Given the description of an element on the screen output the (x, y) to click on. 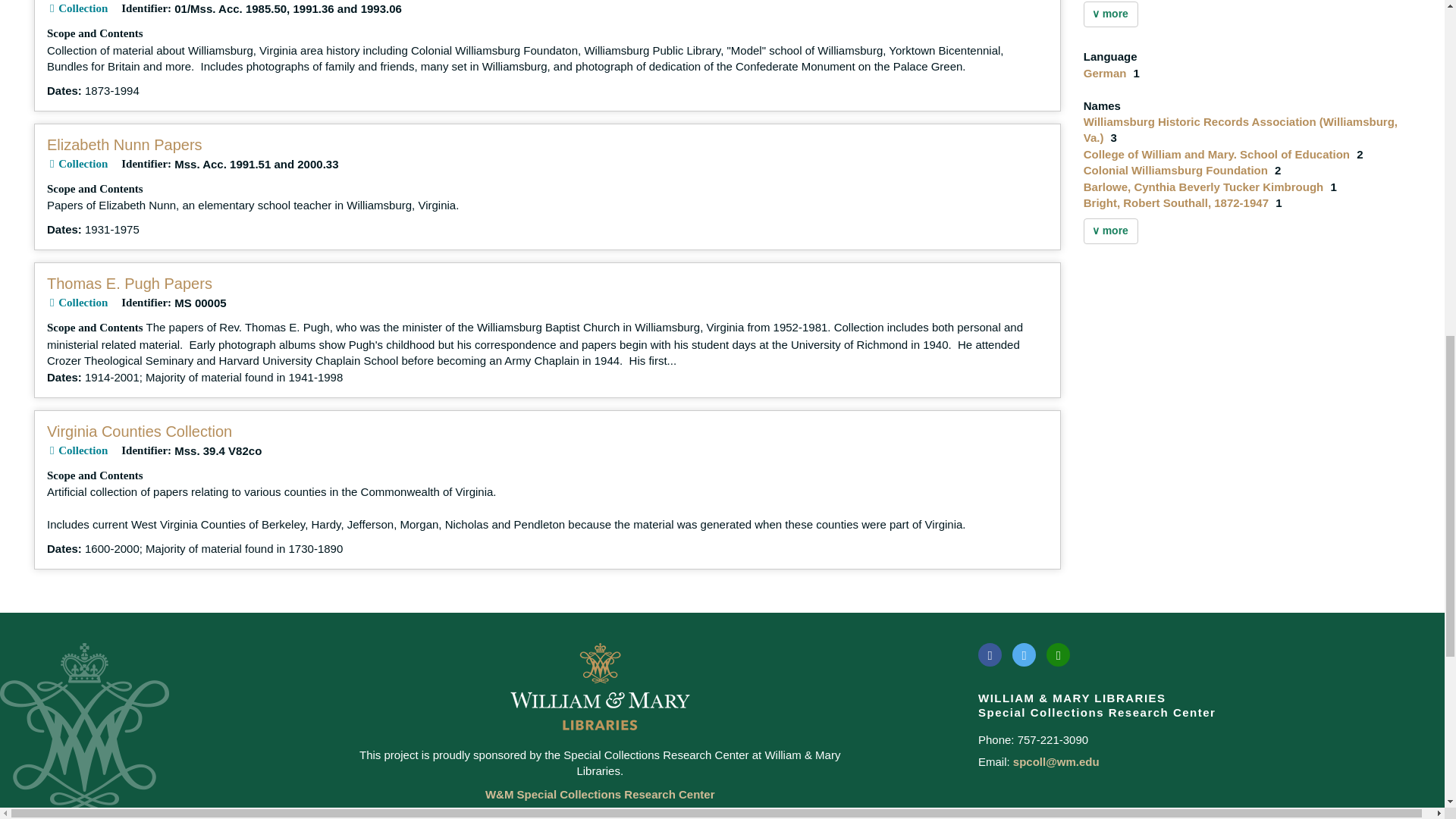
Virginia Counties Collection (138, 431)
Thomas E. Pugh Papers (129, 283)
Elizabeth Nunn Papers (124, 144)
